Given the description of an element on the screen output the (x, y) to click on. 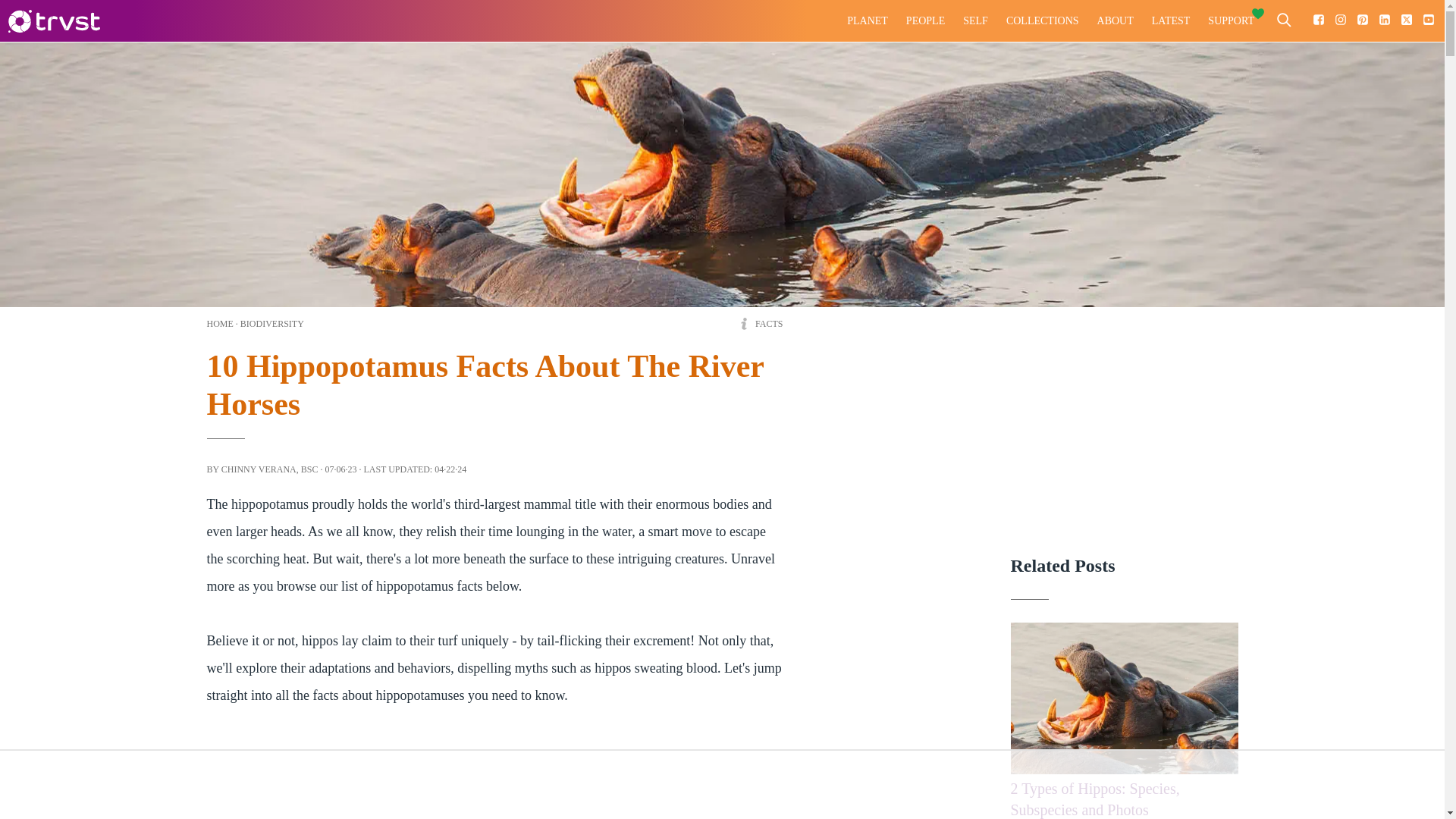
PLANET (867, 20)
PEOPLE (924, 20)
ABOUT (1114, 20)
SELF (975, 20)
COLLECTIONS (1042, 20)
